Given the description of an element on the screen output the (x, y) to click on. 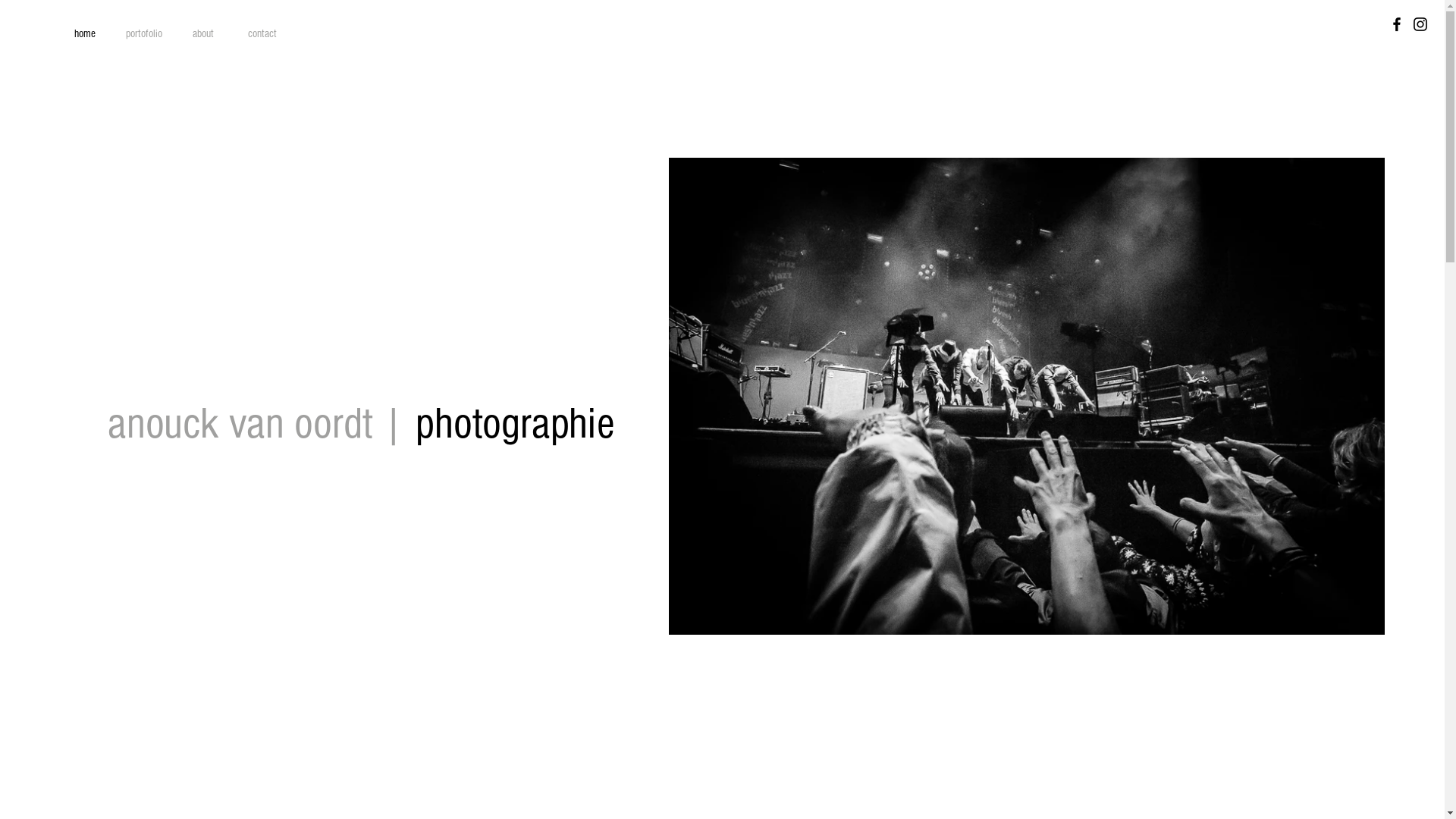
portofolio Element type: text (143, 34)
about Element type: text (202, 34)
contact Element type: text (261, 34)
home Element type: text (84, 34)
